Given the description of an element on the screen output the (x, y) to click on. 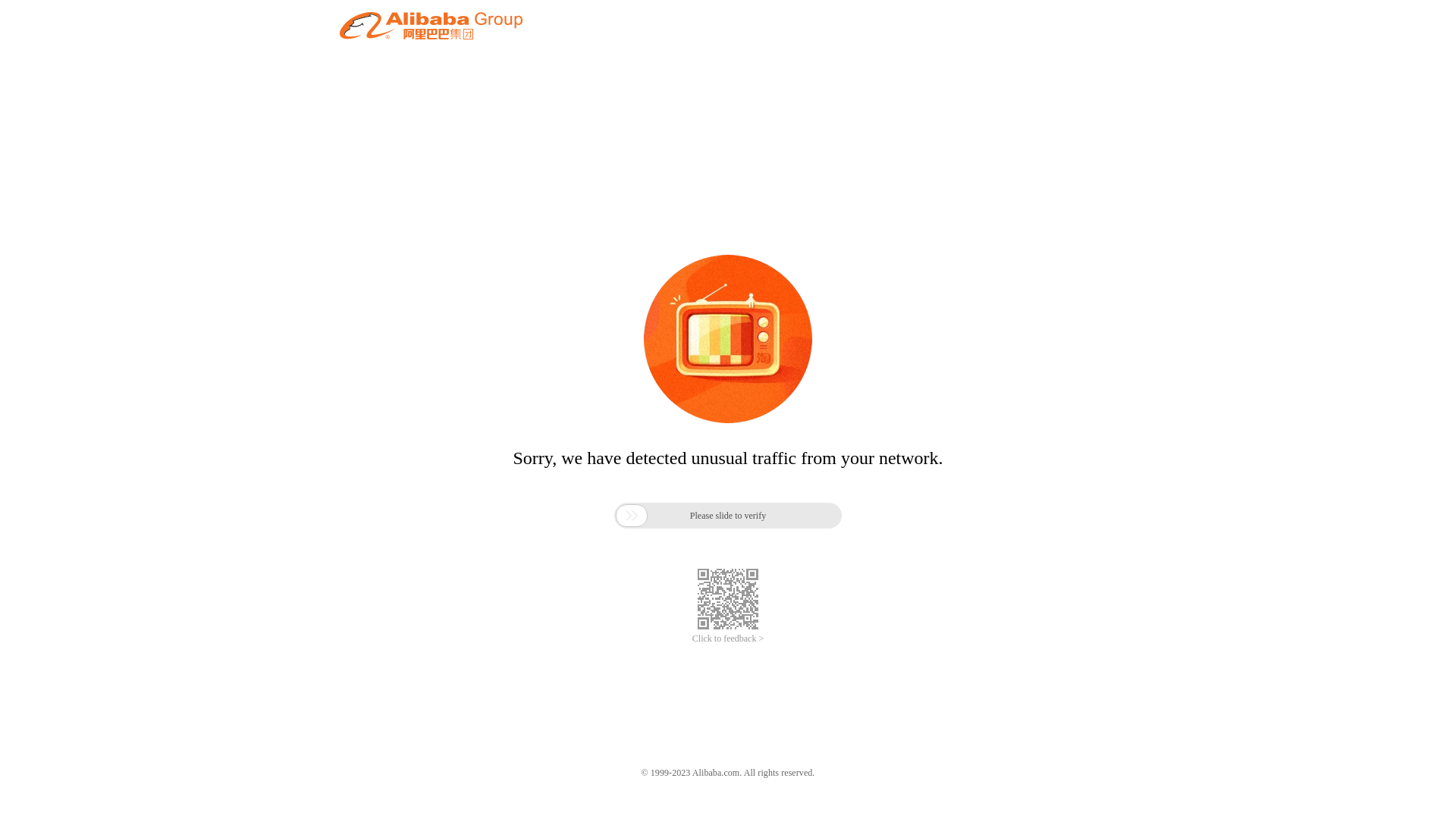
Click to feedback > Element type: text (727, 638)
